Given the description of an element on the screen output the (x, y) to click on. 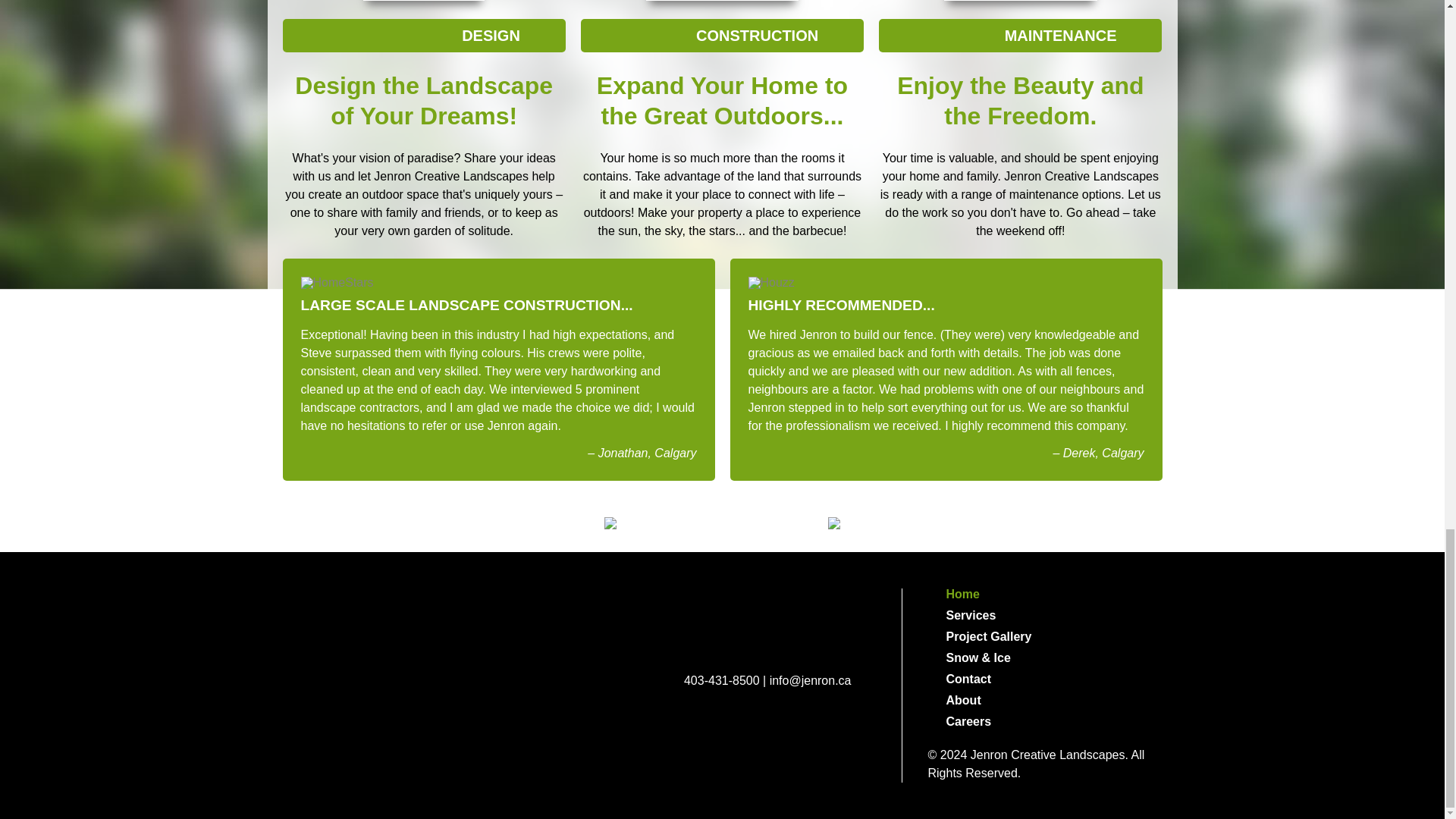
Facebook (775, 741)
Landscape Alberta 2022 (431, 635)
Jenron Creative Landscapes (768, 627)
Services (1044, 615)
COR (716, 741)
Contact (1044, 679)
DESIGN (423, 35)
Careers (1044, 721)
Home (1044, 594)
About (1044, 700)
Landscape Alberta 2021 (533, 635)
Landscape Alberta 2023 (329, 635)
MAINTENANCE (1020, 35)
CONSTRUCTION (721, 35)
Project Gallery (1044, 636)
